Given the description of an element on the screen output the (x, y) to click on. 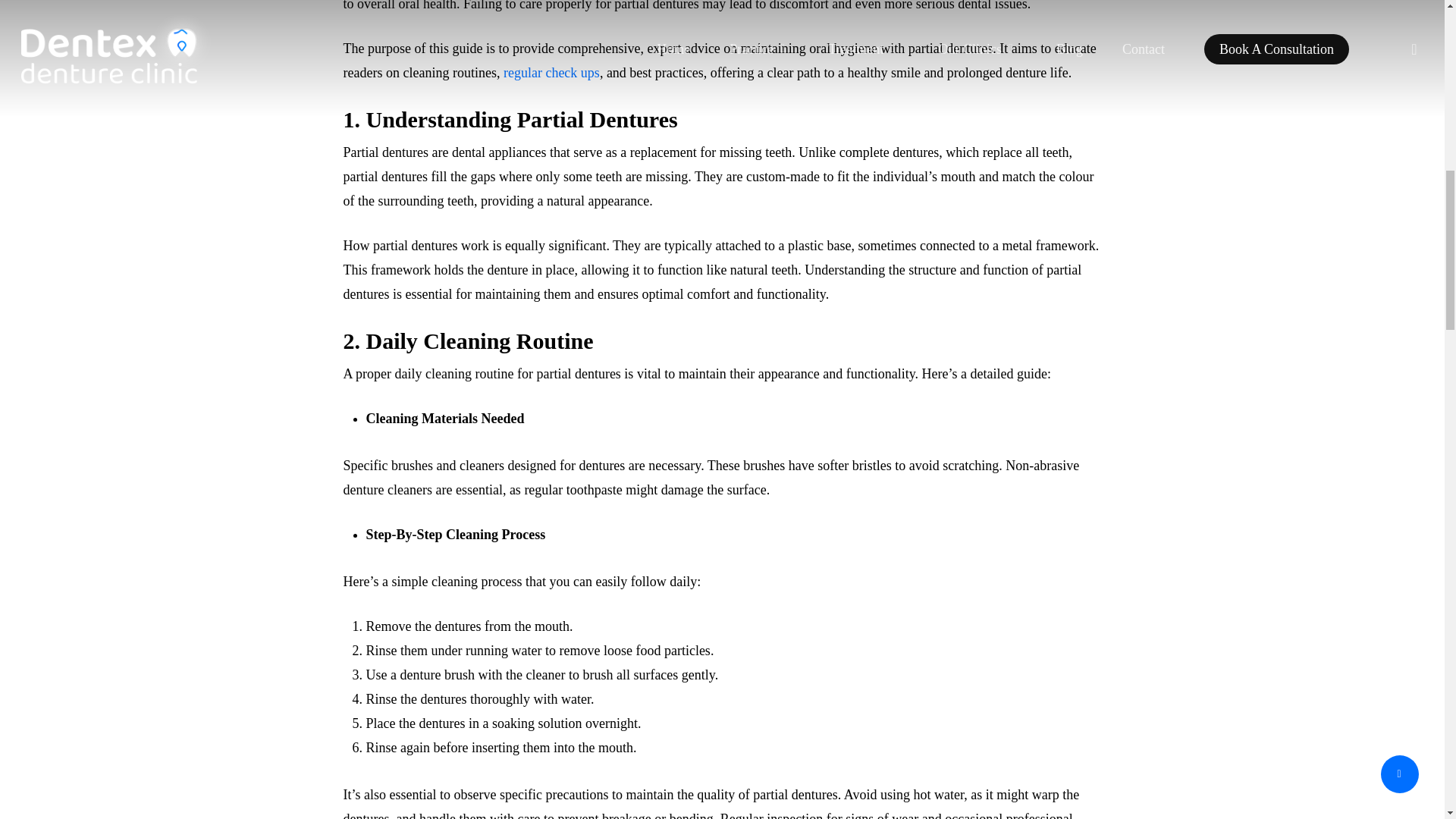
regular check ups (551, 72)
